Given the description of an element on the screen output the (x, y) to click on. 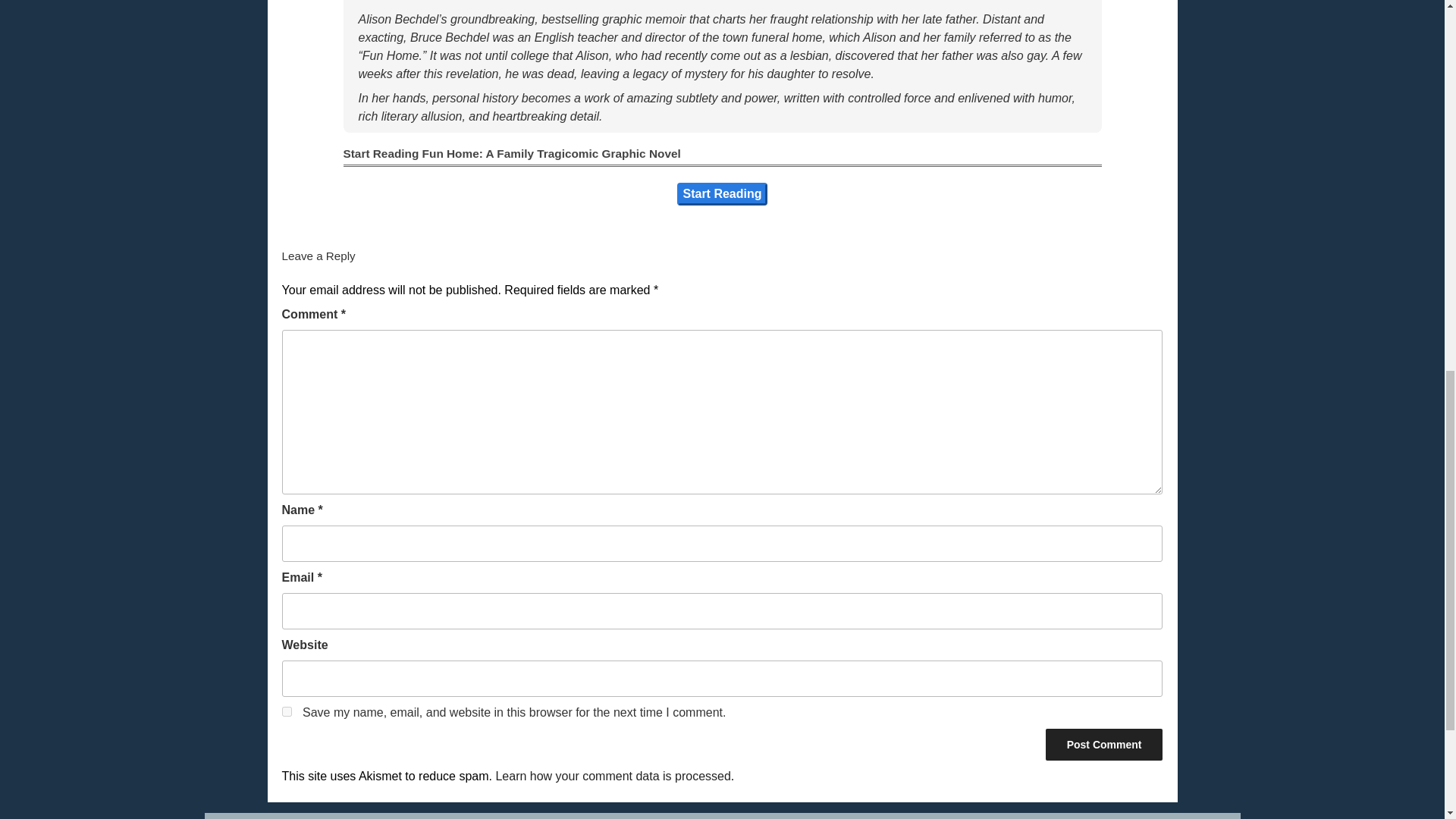
Learn how your comment data is processed (612, 775)
yes (287, 711)
Start Reading (722, 193)
Post Comment (1104, 744)
Post Comment (1104, 744)
